Given the description of an element on the screen output the (x, y) to click on. 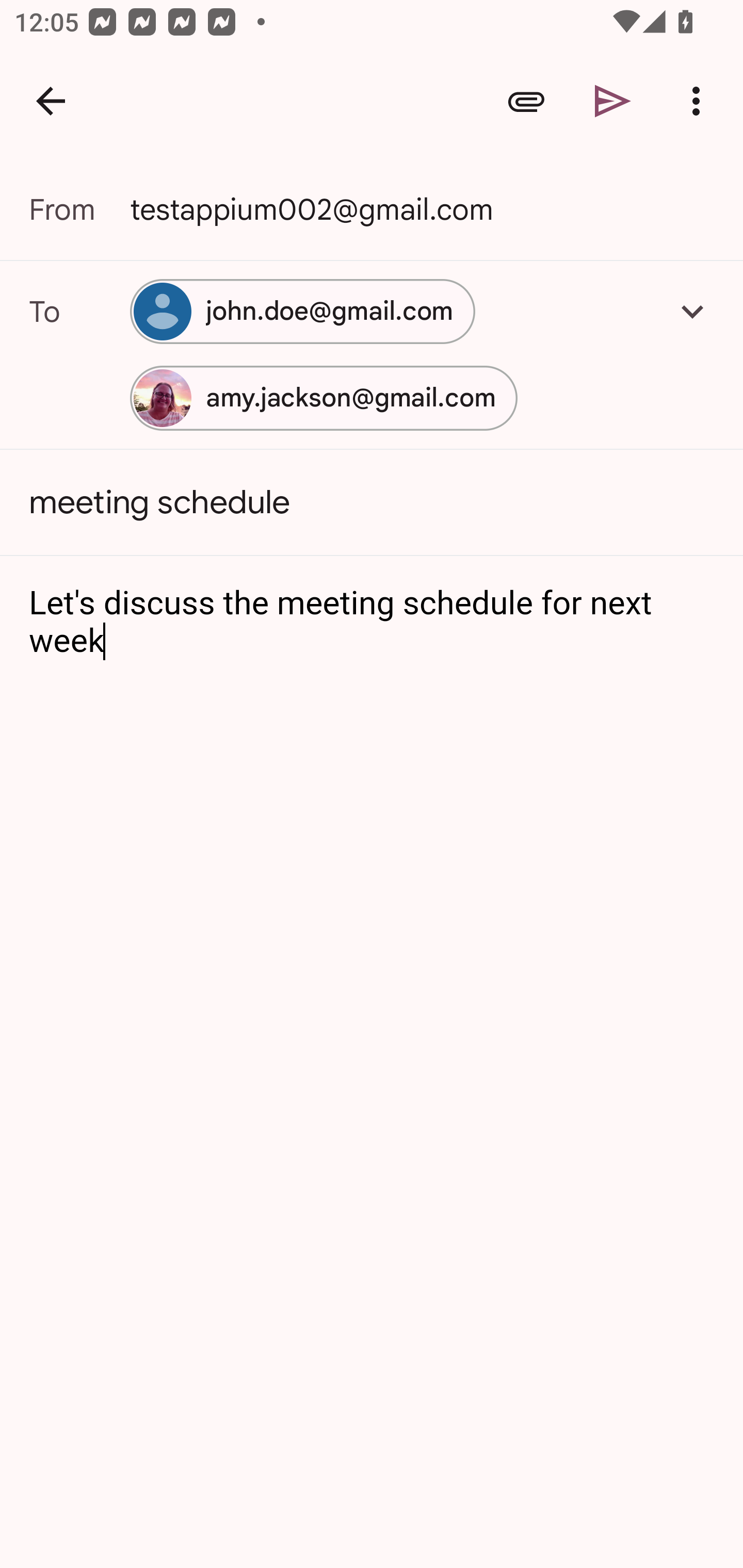
Navigate up (50, 101)
Attach file (525, 101)
Send (612, 101)
More options (699, 101)
From (79, 209)
Add Cc/Bcc (692, 311)
meeting schedule (371, 502)
Let's discuss the meeting schedule for next week (372, 622)
